Given the description of an element on the screen output the (x, y) to click on. 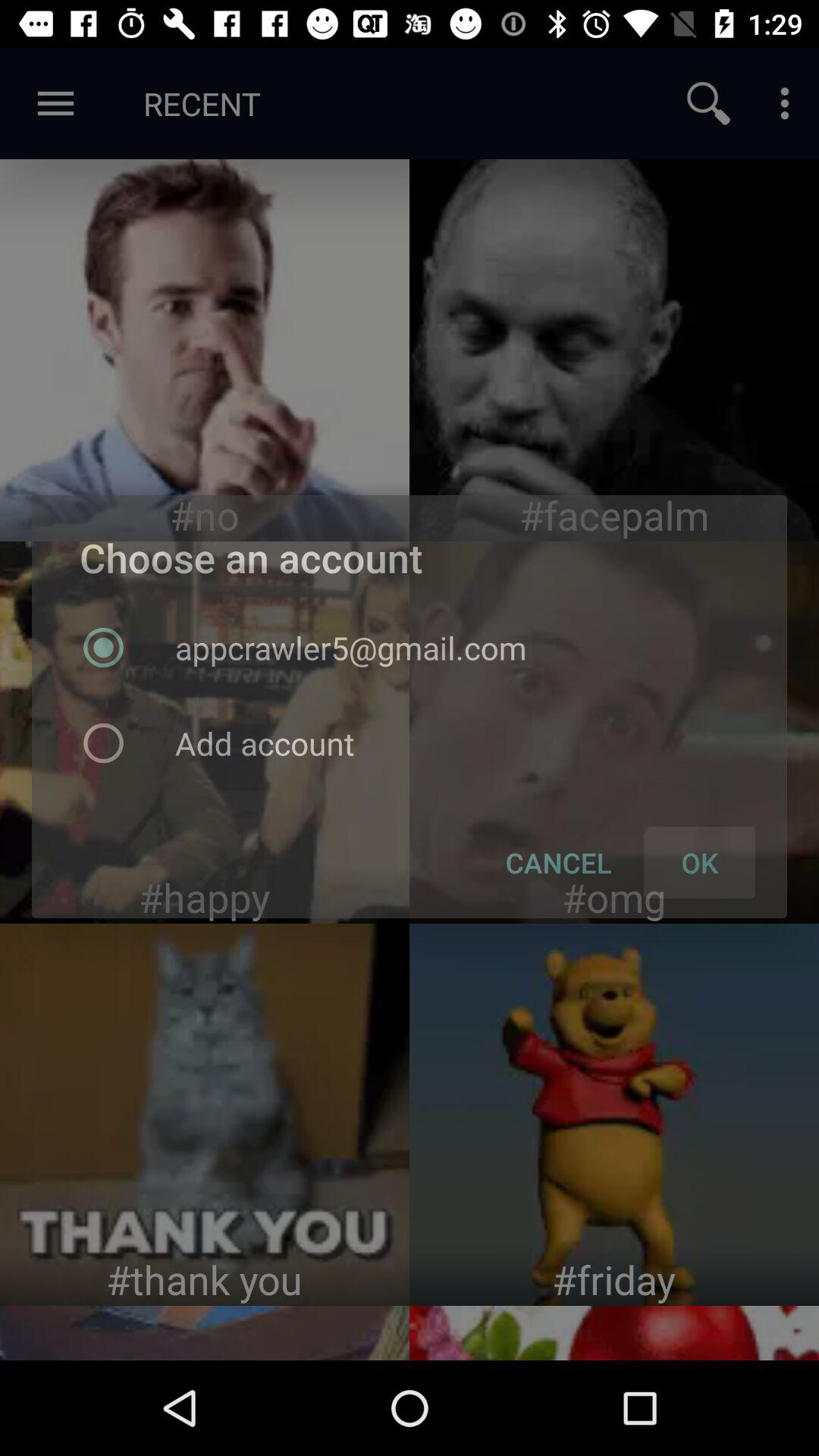
choose this (204, 1114)
